Given the description of an element on the screen output the (x, y) to click on. 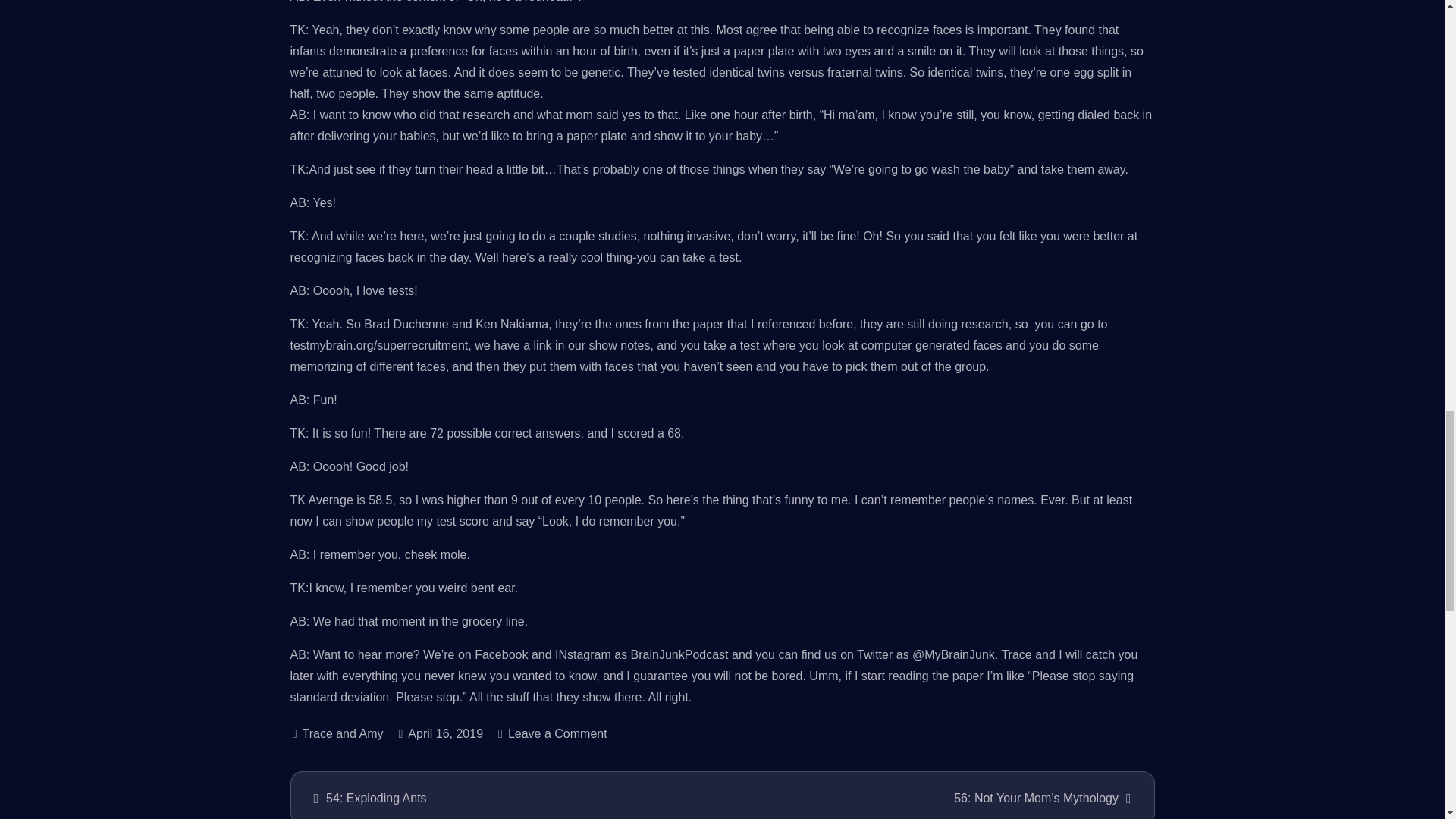
54: Exploding Ants (508, 798)
Trace and Amy (338, 733)
April 16, 2019 (440, 733)
